Given the description of an element on the screen output the (x, y) to click on. 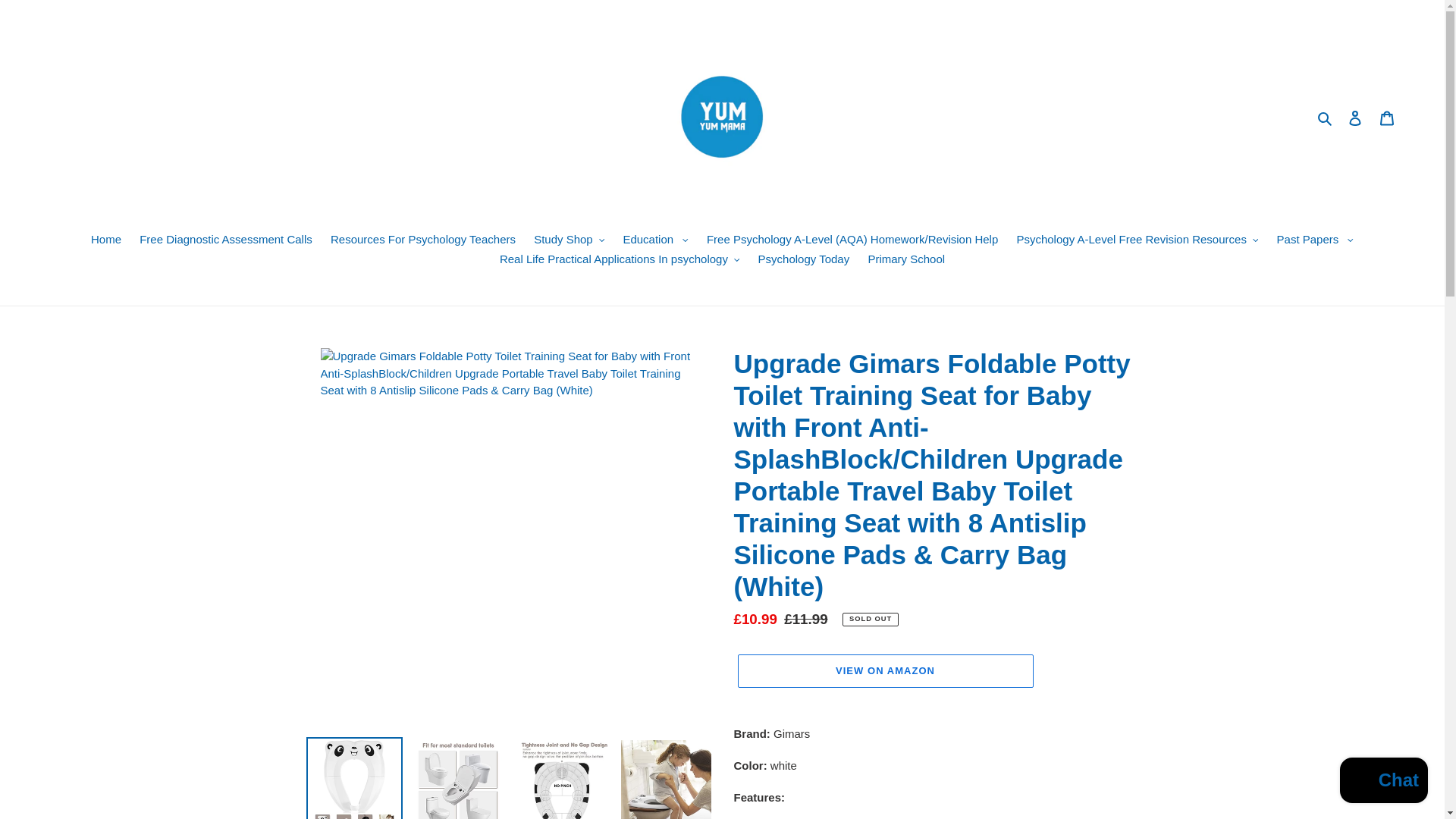
Search (1326, 117)
Shopify online store chat (1383, 781)
Cart (1387, 117)
Log in (1355, 117)
